Given the description of an element on the screen output the (x, y) to click on. 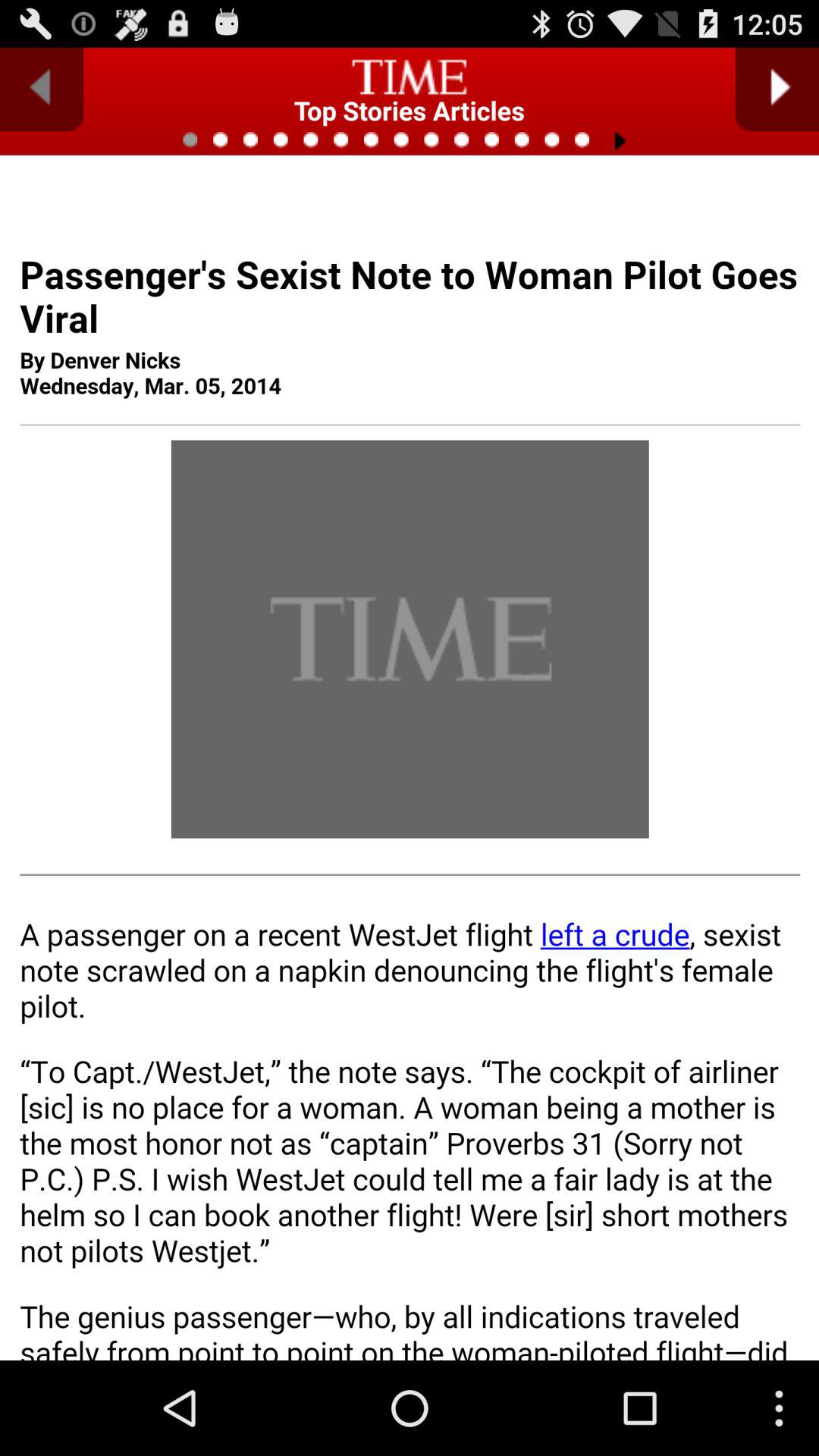
go next button (777, 89)
